Given the description of an element on the screen output the (x, y) to click on. 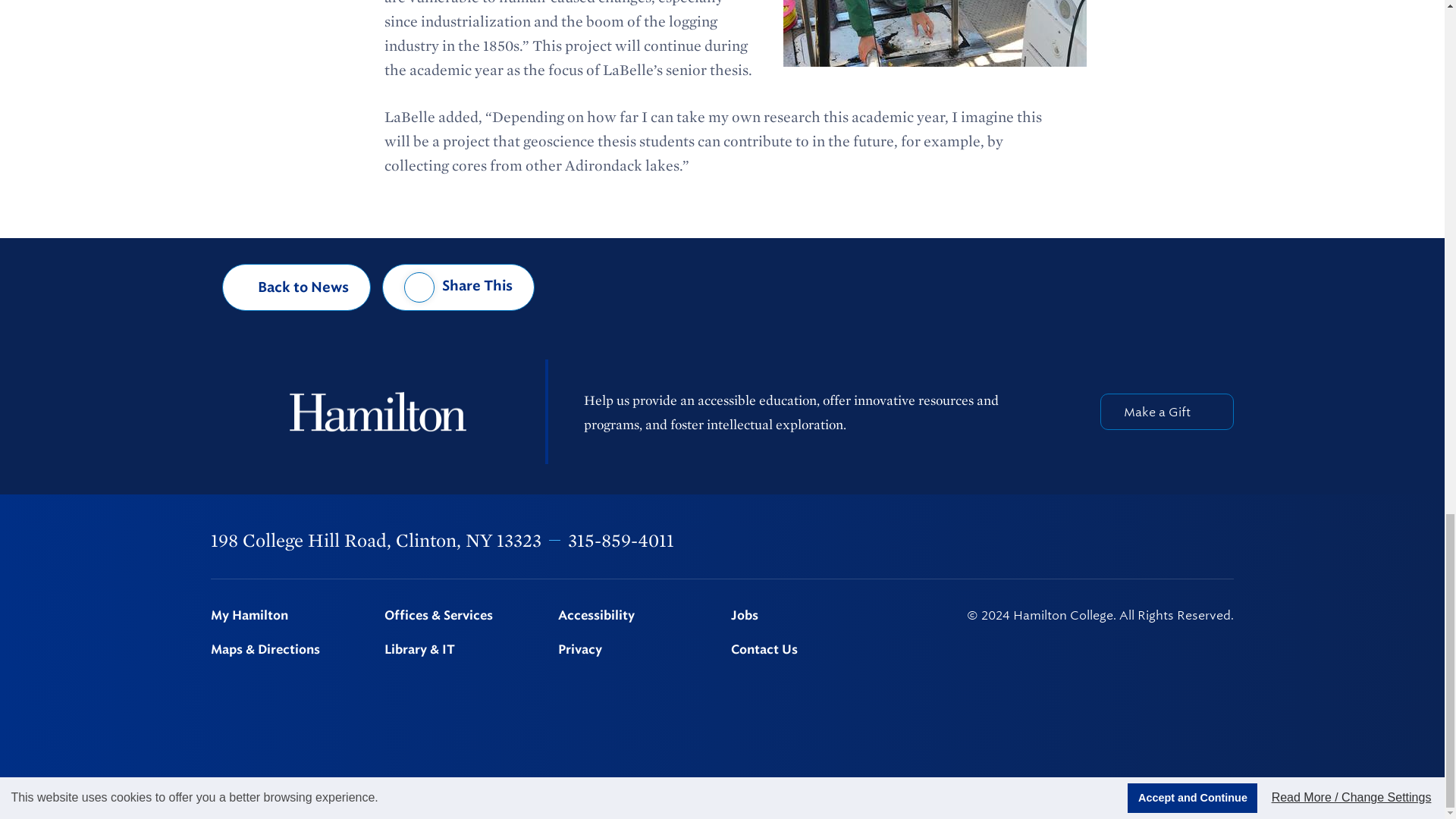
Twitter (1069, 540)
Youtube (1188, 540)
Facebook (1029, 540)
315-859-4011 (620, 540)
Instagram (1109, 540)
Make a Gift (1166, 411)
Back to News (296, 287)
TikTok (1226, 540)
Share This (457, 287)
198 College Hill Road, Clinton, NY 13323 (375, 540)
Linkedin (1149, 540)
